Given the description of an element on the screen output the (x, y) to click on. 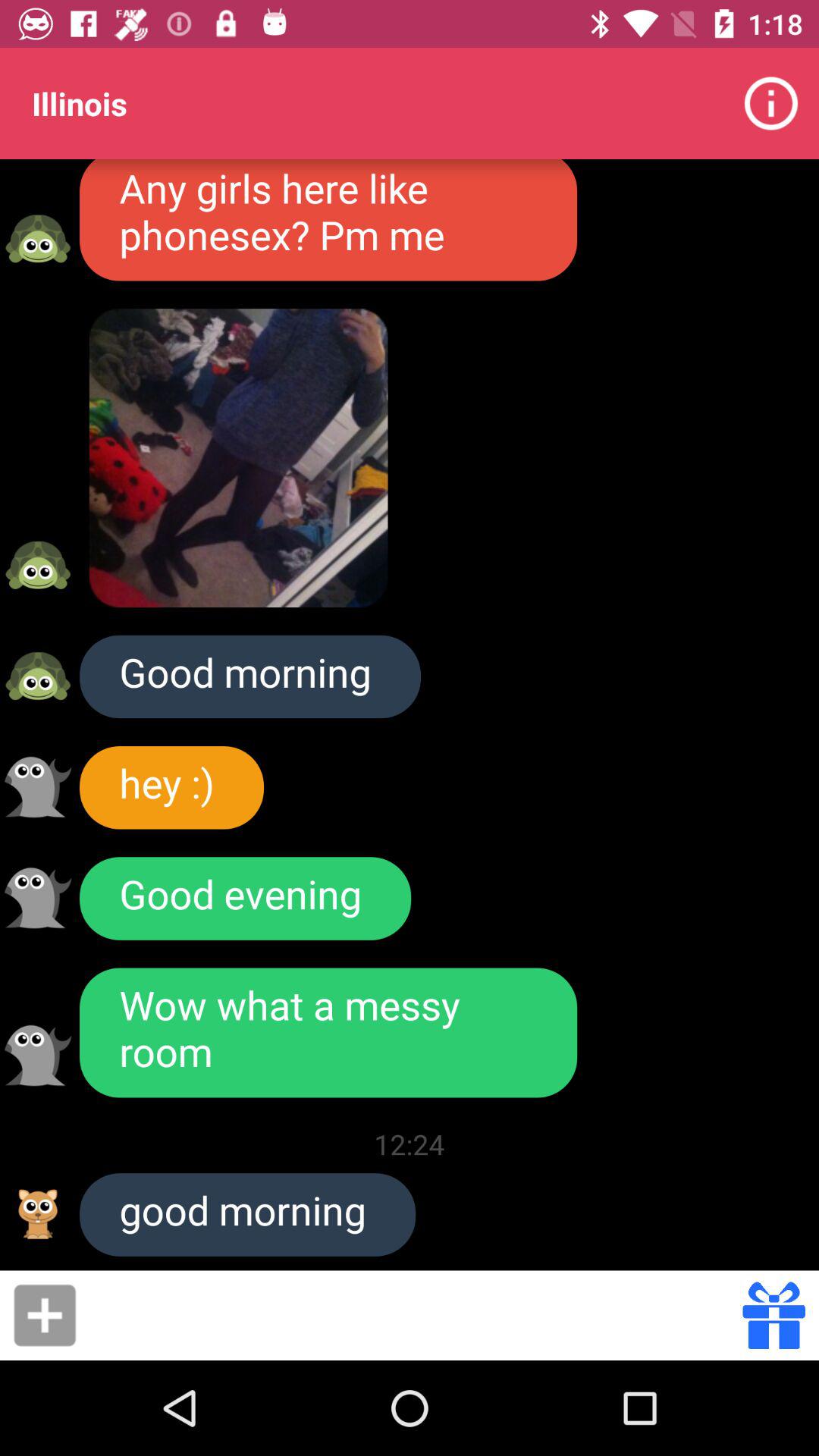
enter to search (414, 1315)
